Given the description of an element on the screen output the (x, y) to click on. 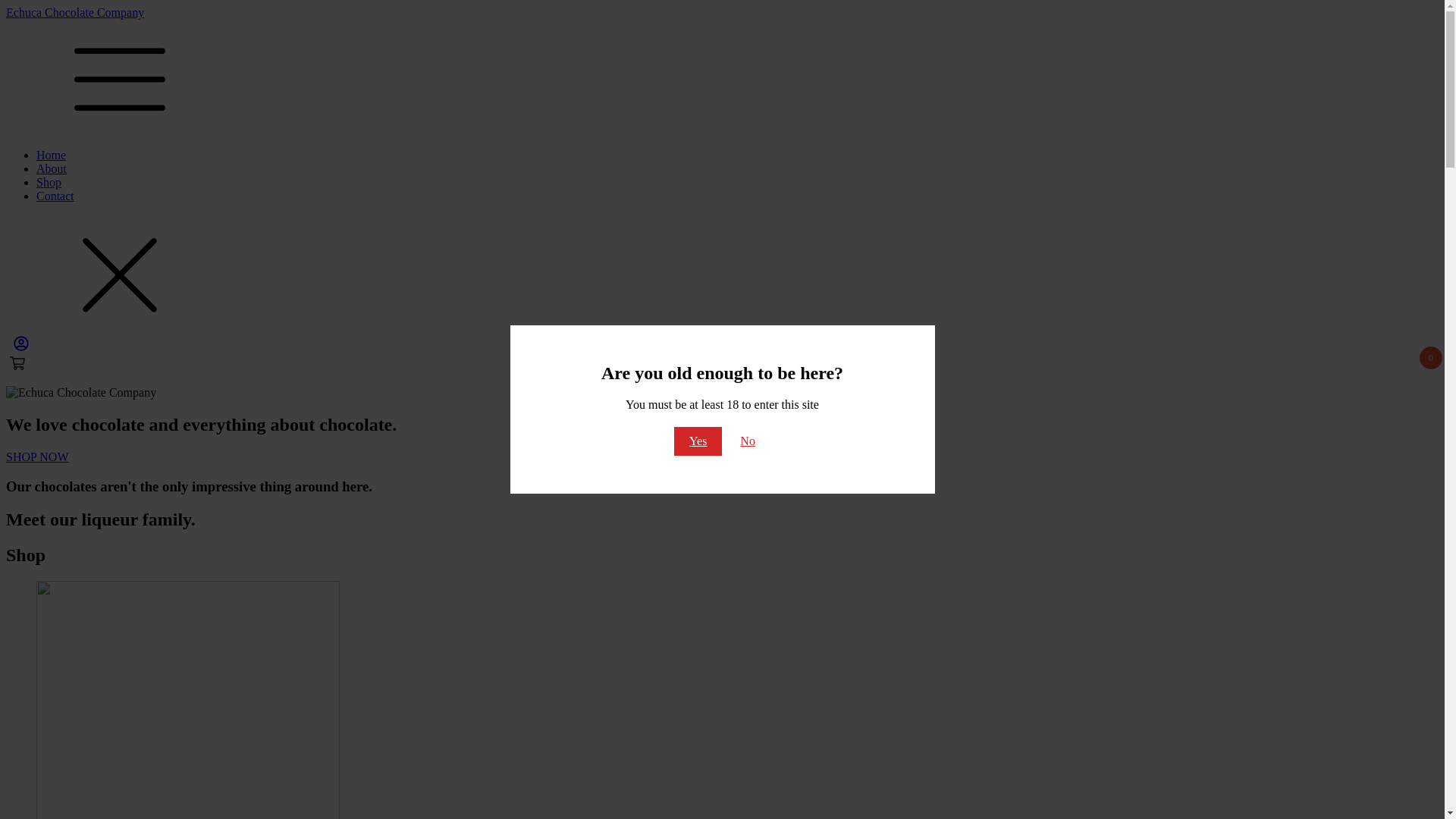
Shop Element type: text (48, 181)
About Element type: text (51, 168)
SHOP NOW Element type: text (37, 456)
View your shopping cart Element type: hover (21, 346)
0 Element type: text (720, 363)
Contact Element type: text (55, 195)
No Element type: text (747, 440)
Echuca Chocolate Company Element type: text (722, 12)
Home Element type: text (50, 154)
Yes Element type: text (697, 440)
